Given the description of an element on the screen output the (x, y) to click on. 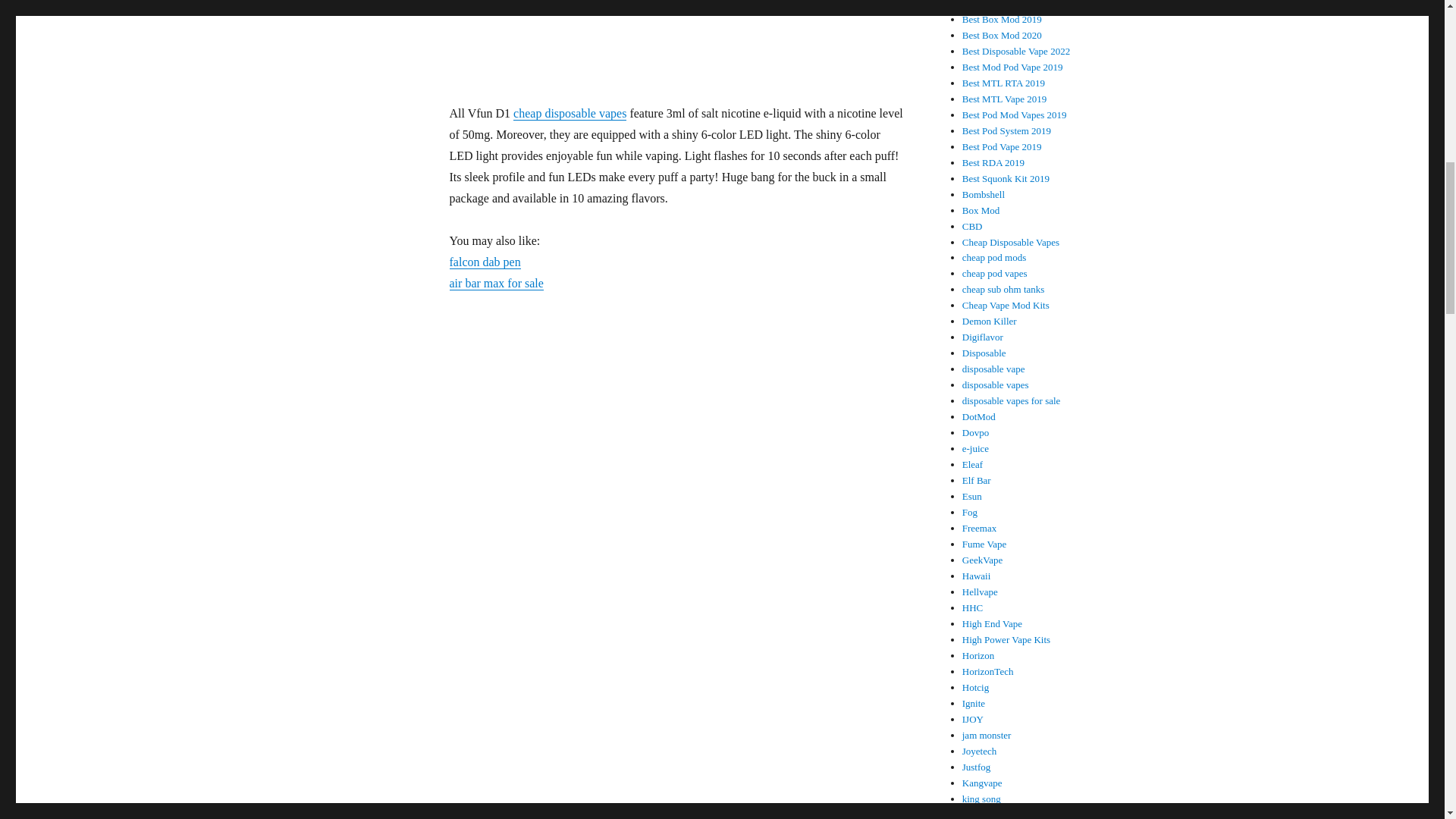
cheap disposable vapes (569, 113)
Cheap Disposable Vapes (1010, 242)
Box Mod (980, 210)
vfun vape for sale (676, 40)
Best MTL RTA 2019 (1003, 82)
Best Mod Pod Vape 2019 (1012, 66)
Best Pod System 2019 (1006, 130)
Best Disposable Vape 2022 (1016, 50)
Best Pod Mod Vapes 2019 (1014, 114)
Best Auto Squonk Kit 2019 (1016, 4)
falcon dab pen (483, 261)
Best RDA 2019 (993, 162)
Best Pod Vape 2019 (1002, 146)
Best Squonk Kit 2019 (1005, 178)
Bombshell (983, 194)
